Given the description of an element on the screen output the (x, y) to click on. 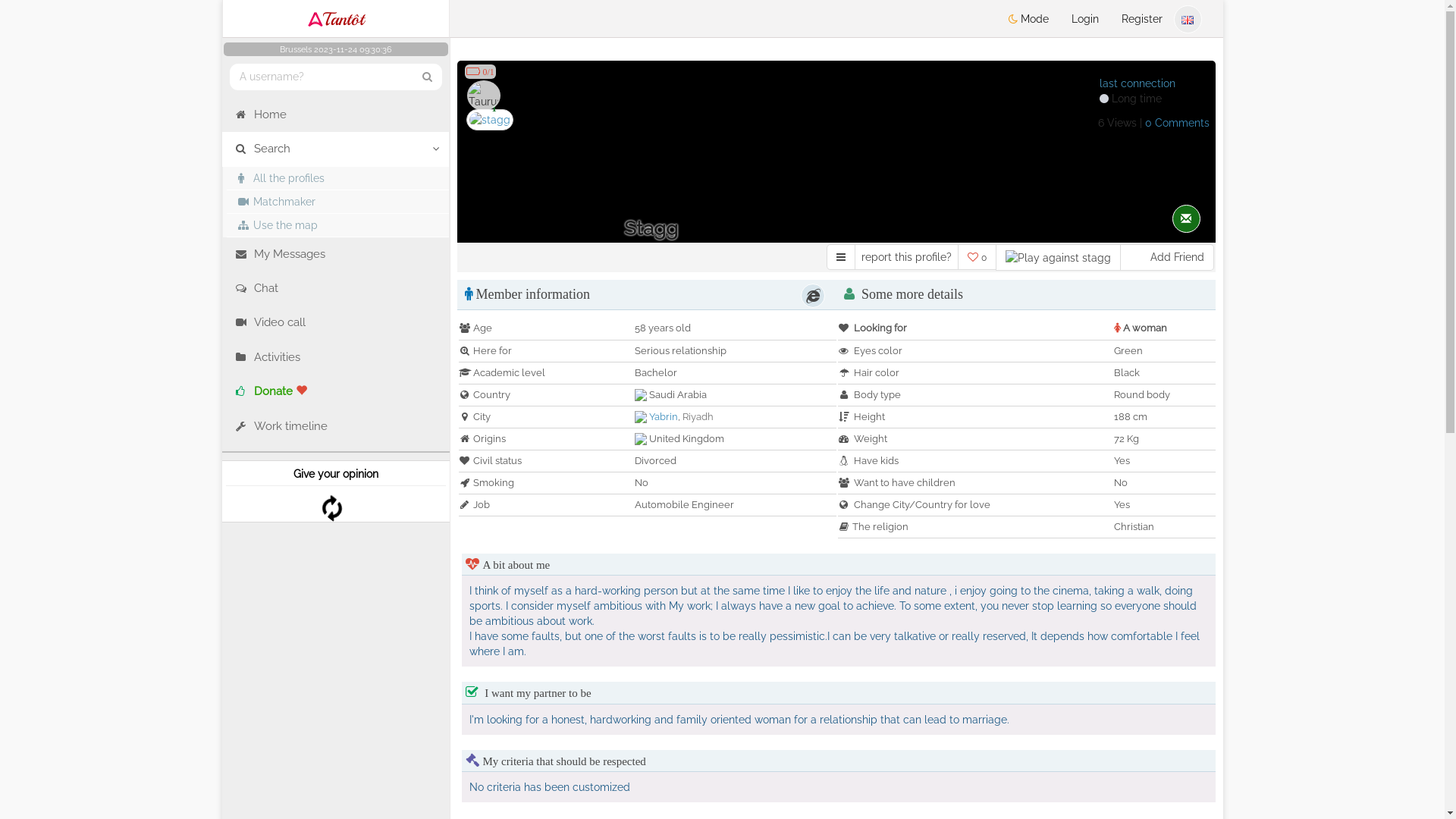
0 Element type: text (976, 256)
promotionsites Element type: hover (334, 624)
Video call Element type: text (334, 322)
My Messages Element type: text (334, 254)
Website Element type: hover (812, 295)
Login Element type: text (1085, 18)
All the profiles Element type: text (336, 177)
Riyadh Element type: text (697, 416)
Work timeline Element type: text (334, 426)
stagg - date a Belgian, 100% free Element type: hover (488, 119)
Yabrin Element type: text (663, 416)
Chat Element type: text (334, 288)
Matchmaker Element type: text (336, 201)
Mode Element type: text (1027, 18)
Home Element type: text (334, 114)
Register Element type: text (1141, 18)
Add Friend Element type: text (1167, 257)
1 Element type: text (493, 109)
Assistance Element type: text (1406, 788)
Activities Element type: text (334, 357)
0 Comments Element type: text (1177, 122)
Search Element type: text (334, 148)
Use the map Element type: text (336, 224)
Donate Element type: text (334, 391)
report this profile? Element type: text (905, 256)
